Given the description of an element on the screen output the (x, y) to click on. 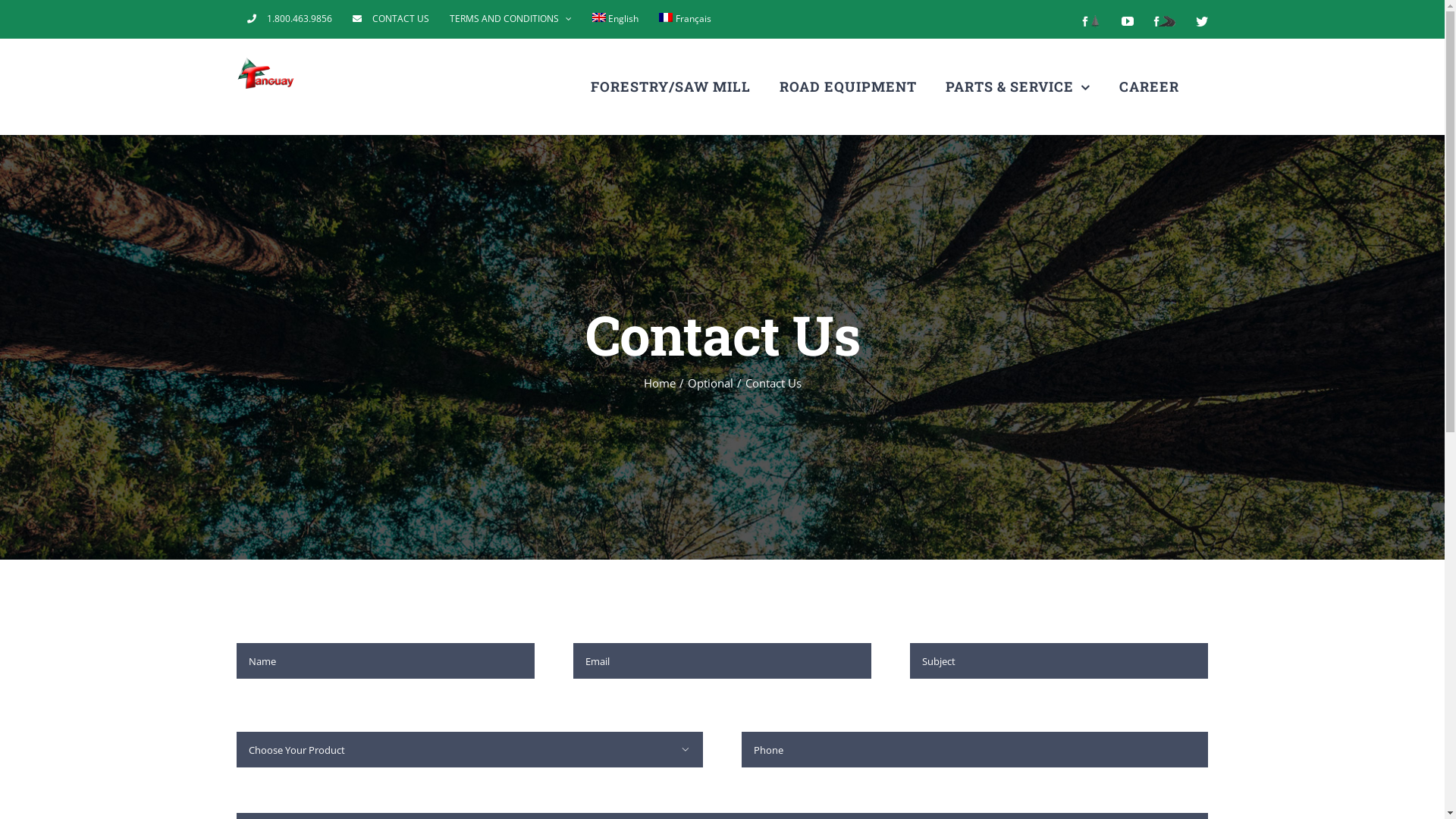
CONTACT US Element type: text (390, 18)
CAREER Element type: text (1149, 86)
Optional Element type: text (709, 382)
Twitter Element type: text (1201, 21)
PARTS & SERVICE Element type: text (1016, 86)
Facebook Forest Element type: text (1090, 21)
English Element type: text (615, 18)
YouTube Element type: text (1127, 21)
ROAD EQUIPMENT Element type: text (847, 86)
Facebook Road Element type: text (1164, 21)
Home Element type: text (658, 382)
1.800.463.9856 Element type: text (288, 18)
FORESTRY/SAW MILL Element type: text (669, 86)
TERMS AND CONDITIONS Element type: text (510, 18)
